Given the description of an element on the screen output the (x, y) to click on. 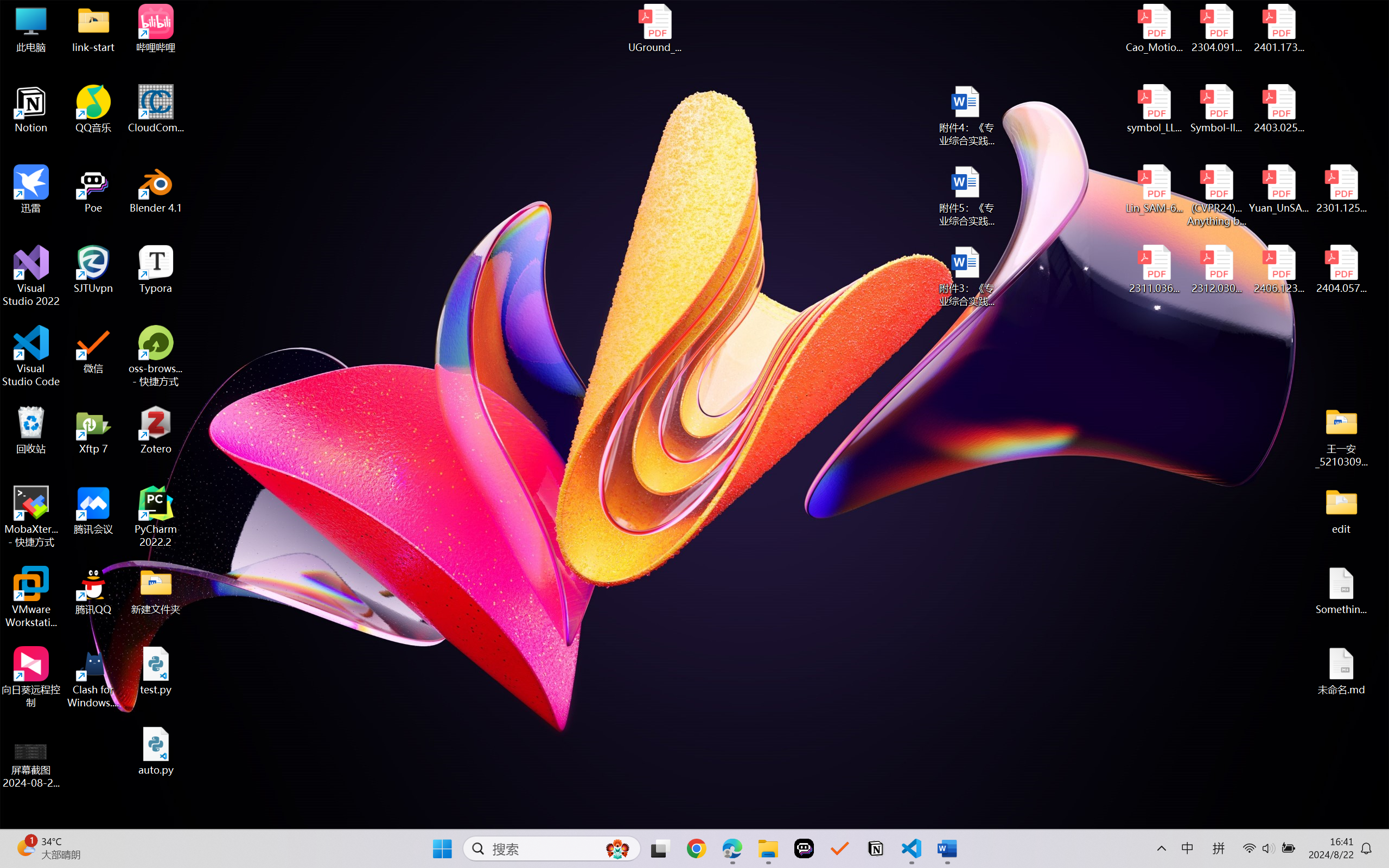
2304.09121v3.pdf (1216, 28)
2311.03658v2.pdf (1154, 269)
2401.17399v1.pdf (1278, 28)
Poe (93, 189)
